Given the description of an element on the screen output the (x, y) to click on. 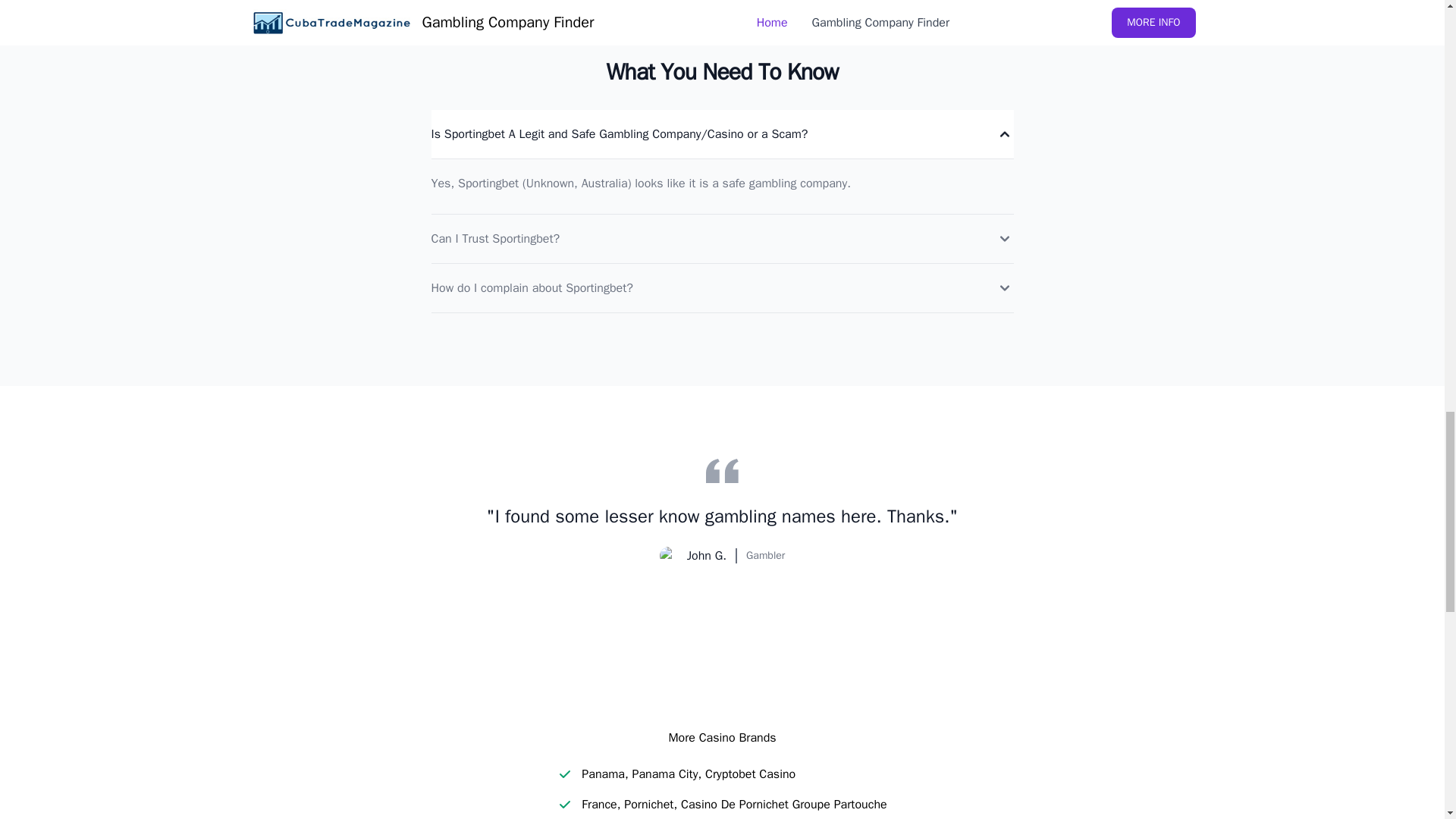
How do I complain about Sportingbet? (721, 287)
France, Pornichet, Casino De Pornichet Groupe Partouche (733, 804)
Can I Trust Sportingbet? (721, 238)
Panama, Panama City, Cryptobet Casino (687, 773)
